Given the description of an element on the screen output the (x, y) to click on. 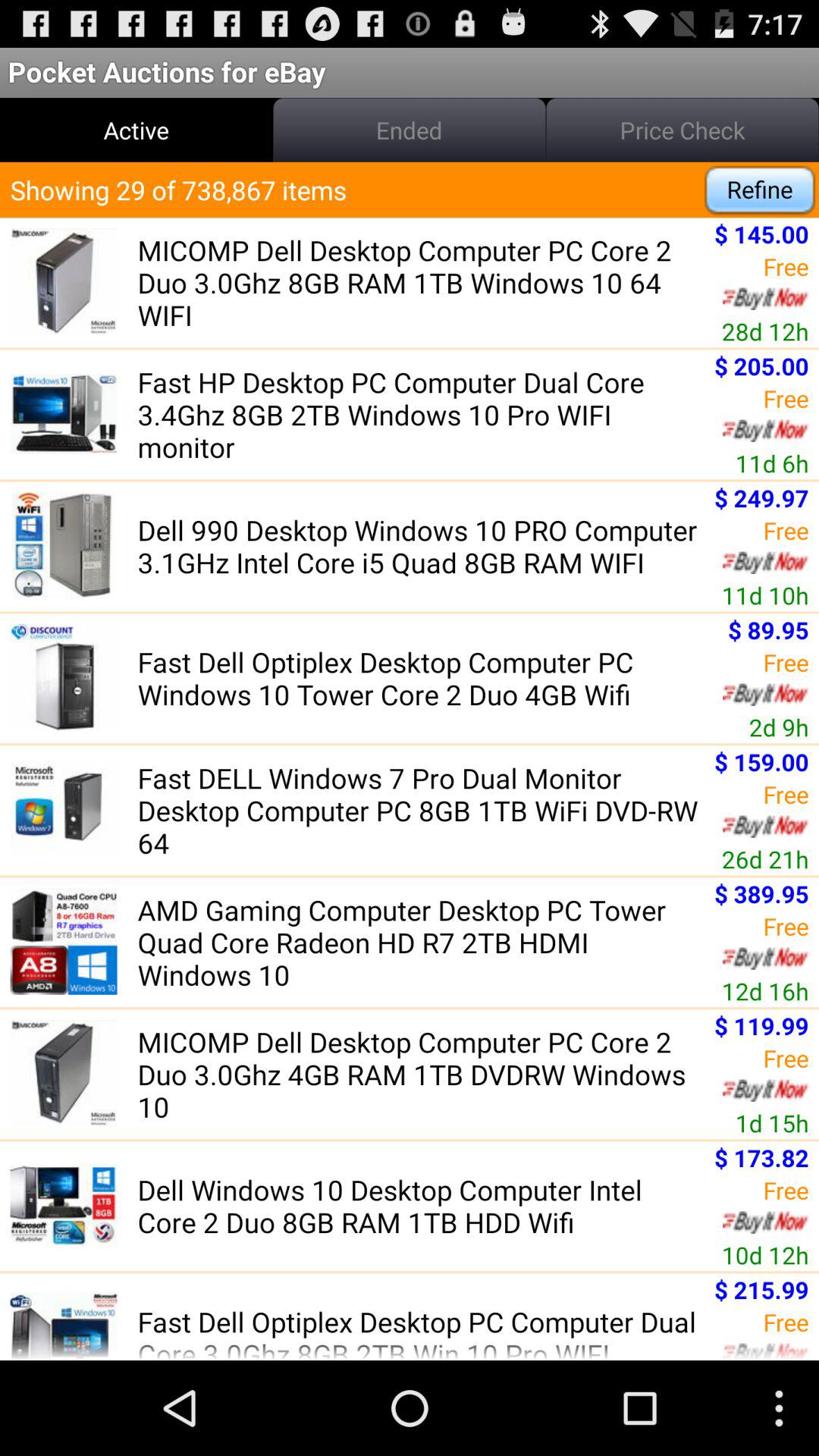
click app above $ 173.82 icon (771, 1122)
